Given the description of an element on the screen output the (x, y) to click on. 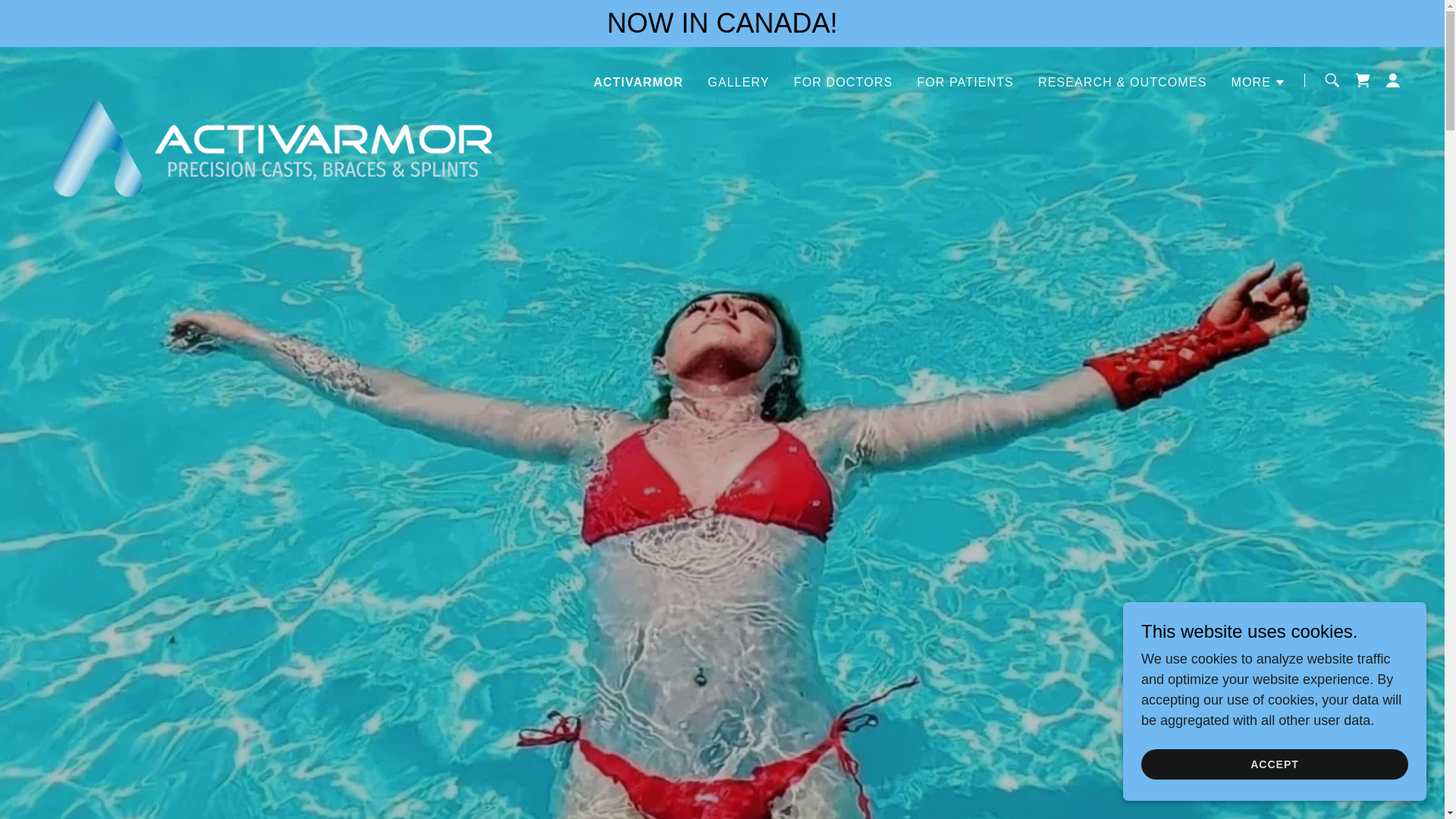
FOR DOCTORS Element type: text (843, 81)
ActivArmor Canada Inc. Element type: hover (276, 77)
FOR PATIENTS Element type: text (965, 81)
GALLERY Element type: text (737, 81)
MORE Element type: text (1258, 81)
RESEARCH & OUTCOMES Element type: text (1122, 81)
ACTIVARMOR Element type: text (638, 81)
ACCEPT Element type: text (1274, 764)
